Given the description of an element on the screen output the (x, y) to click on. 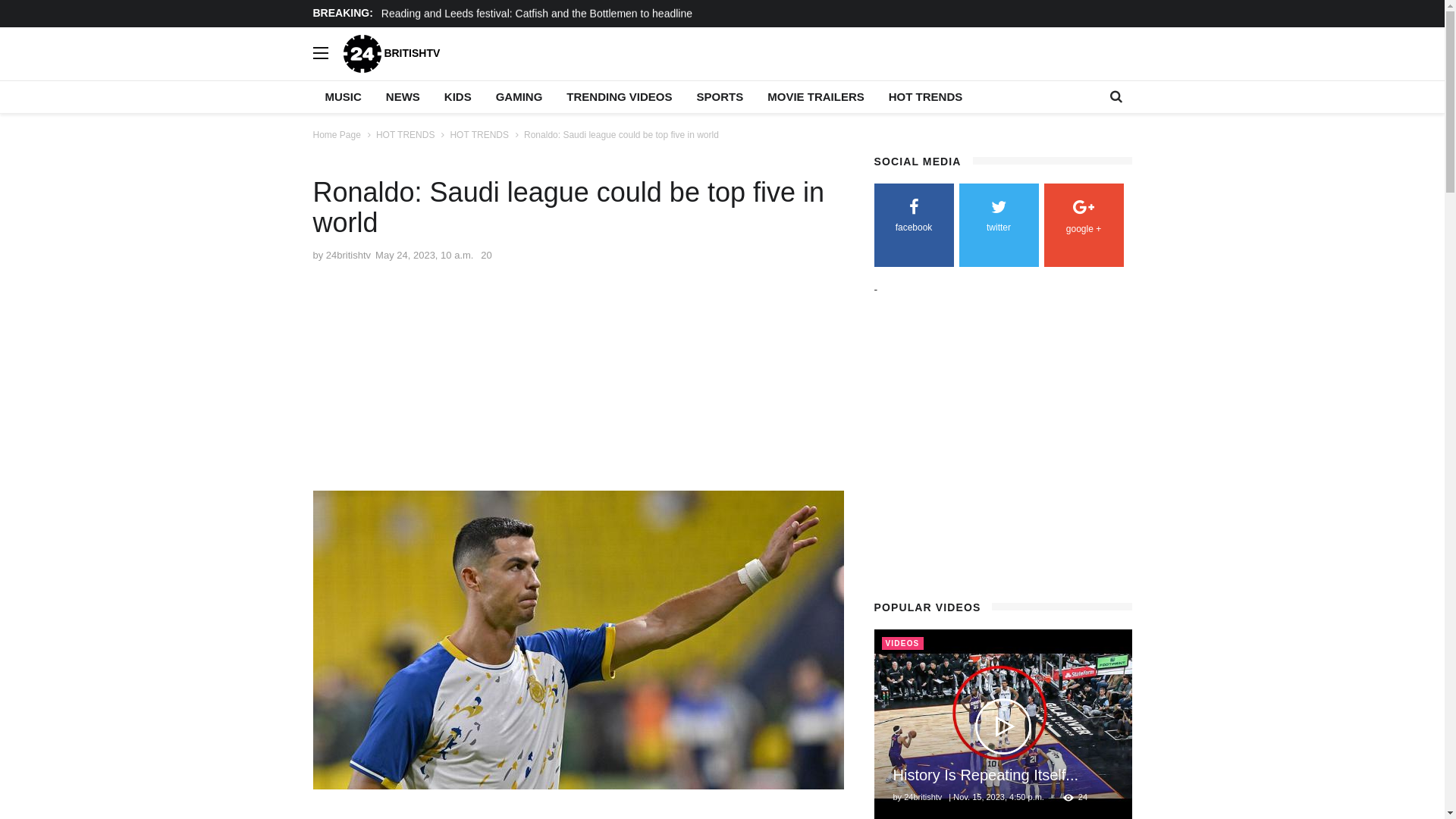
google + Element type: text (1083, 219)
NEWS Element type: text (402, 96)
GAMING Element type: text (519, 96)
Home Page Element type: text (336, 134)
MUSIC Element type: text (342, 96)
BRITISHTV Element type: text (390, 53)
facebook Element type: text (913, 218)
KIDS Element type: text (457, 96)
HOT TRENDS Element type: text (925, 96)
HOT TRENDS Element type: text (405, 134)
SPORTS Element type: text (720, 96)
MOVIE TRAILERS Element type: text (815, 96)
twitter Element type: text (998, 218)
HOT TRENDS Element type: text (478, 134)
TRENDING VIDEOS Element type: text (619, 96)
